Given the description of an element on the screen output the (x, y) to click on. 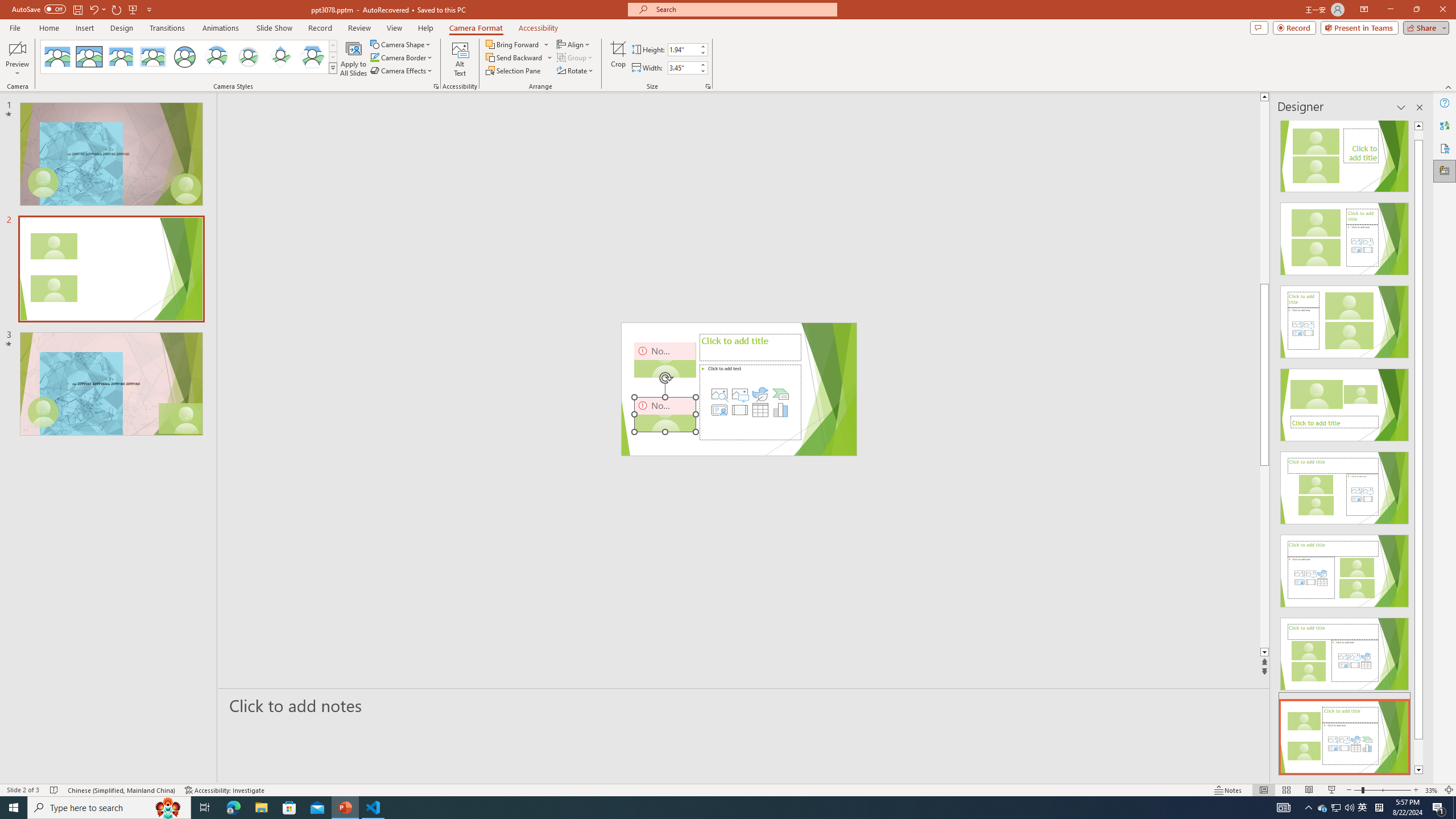
Camera 5, No camera detected. (665, 413)
Send Backward (514, 56)
Center Shadow Rectangle (120, 56)
Simple Frame Circle (184, 56)
Send Backward (518, 56)
